Given the description of an element on the screen output the (x, y) to click on. 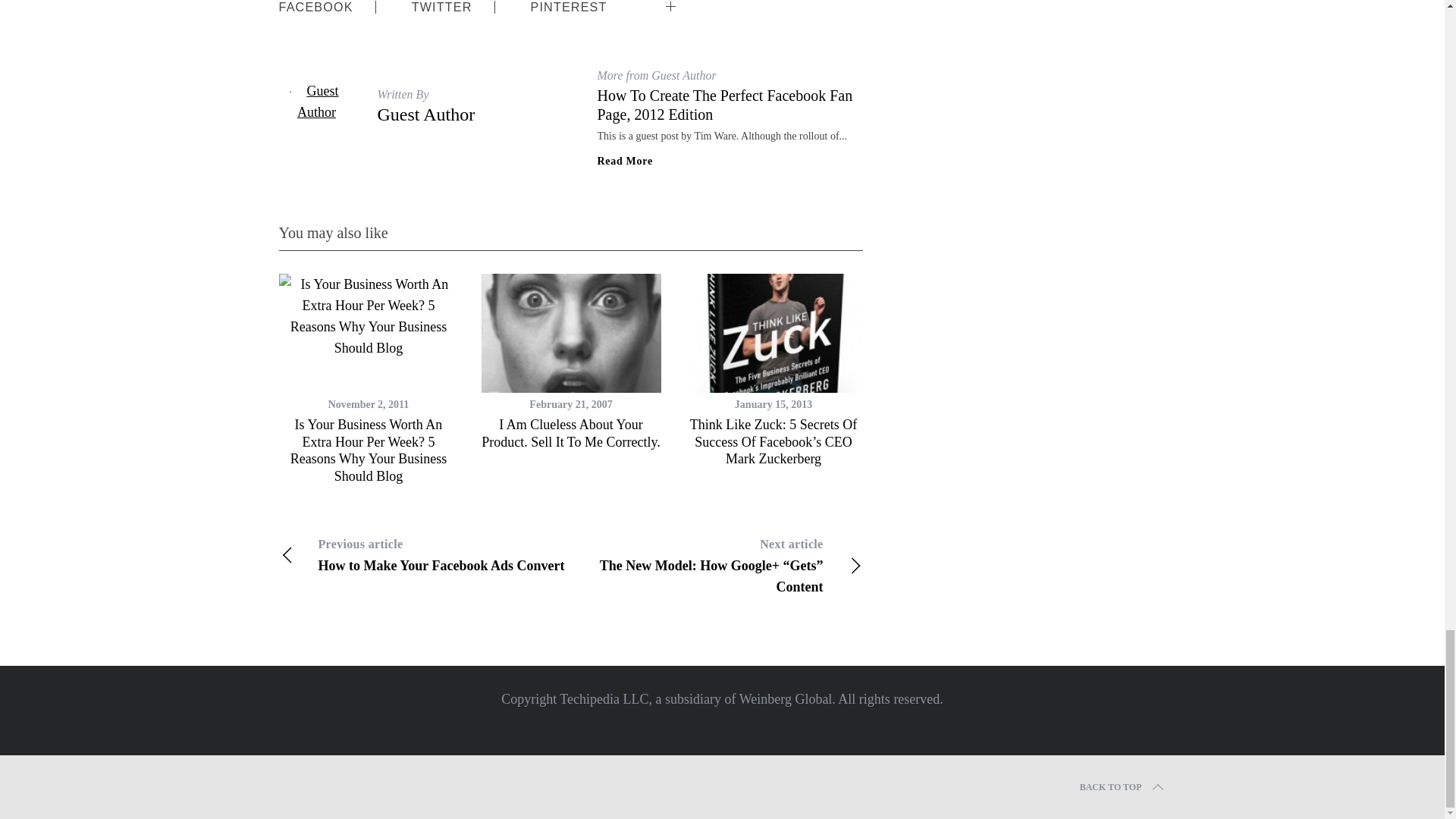
How To Create The Perfect Facebook Fan Page, 2012 Edition (724, 104)
I Am Clueless About Your Product. Sell It To Me Correctly. (571, 432)
LINKEDIN (424, 554)
PINTEREST (714, 3)
Guest Author (569, 9)
TWITTER (426, 114)
Read More (441, 9)
